Given the description of an element on the screen output the (x, y) to click on. 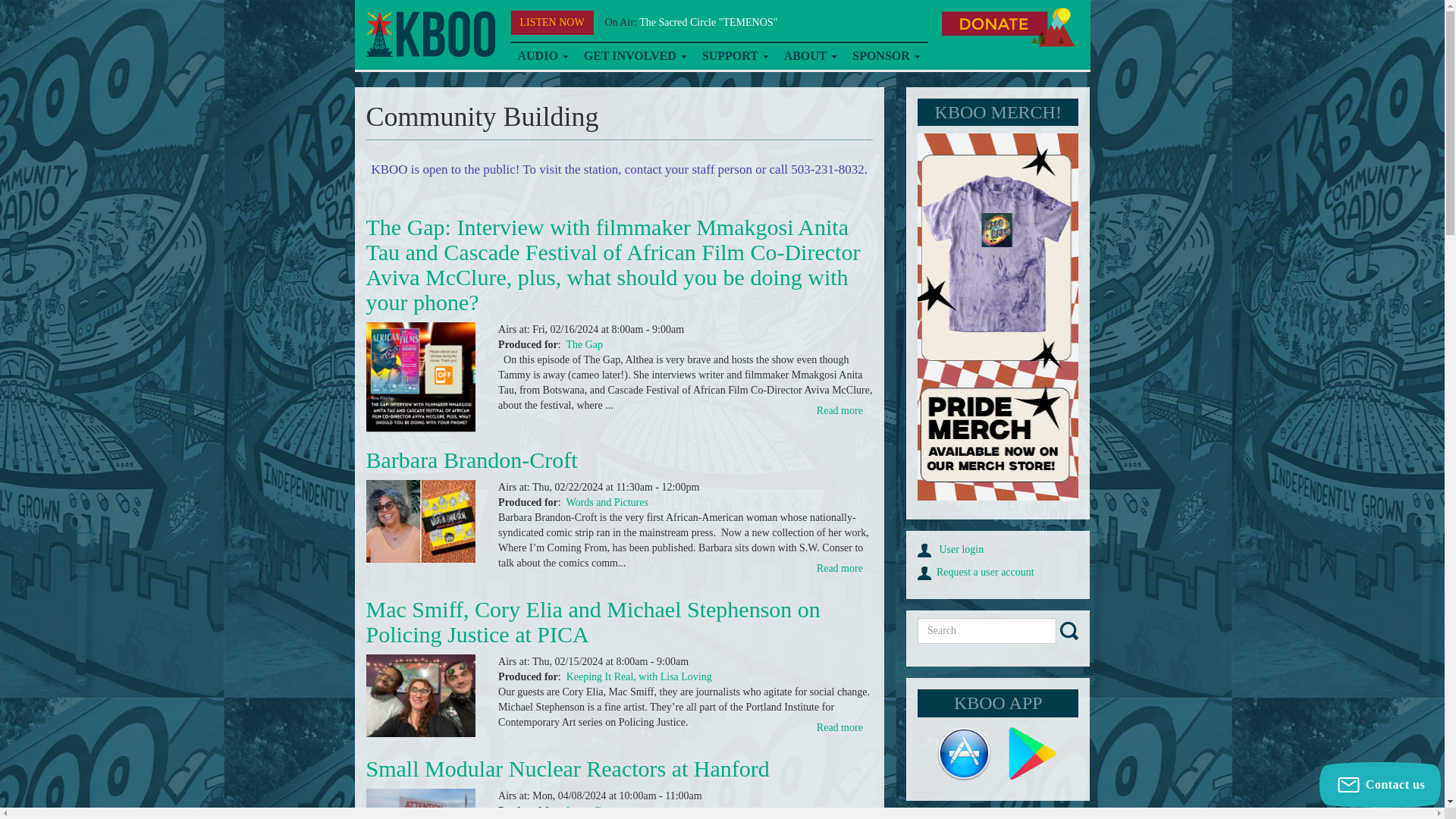
LISTEN NOW (551, 22)
SUPPORT (735, 55)
The Sacred Circle "TEMENOS" (708, 21)
AUDIO (542, 55)
ABOUT (810, 55)
Home (430, 34)
GET INVOLVED (635, 55)
